Given the description of an element on the screen output the (x, y) to click on. 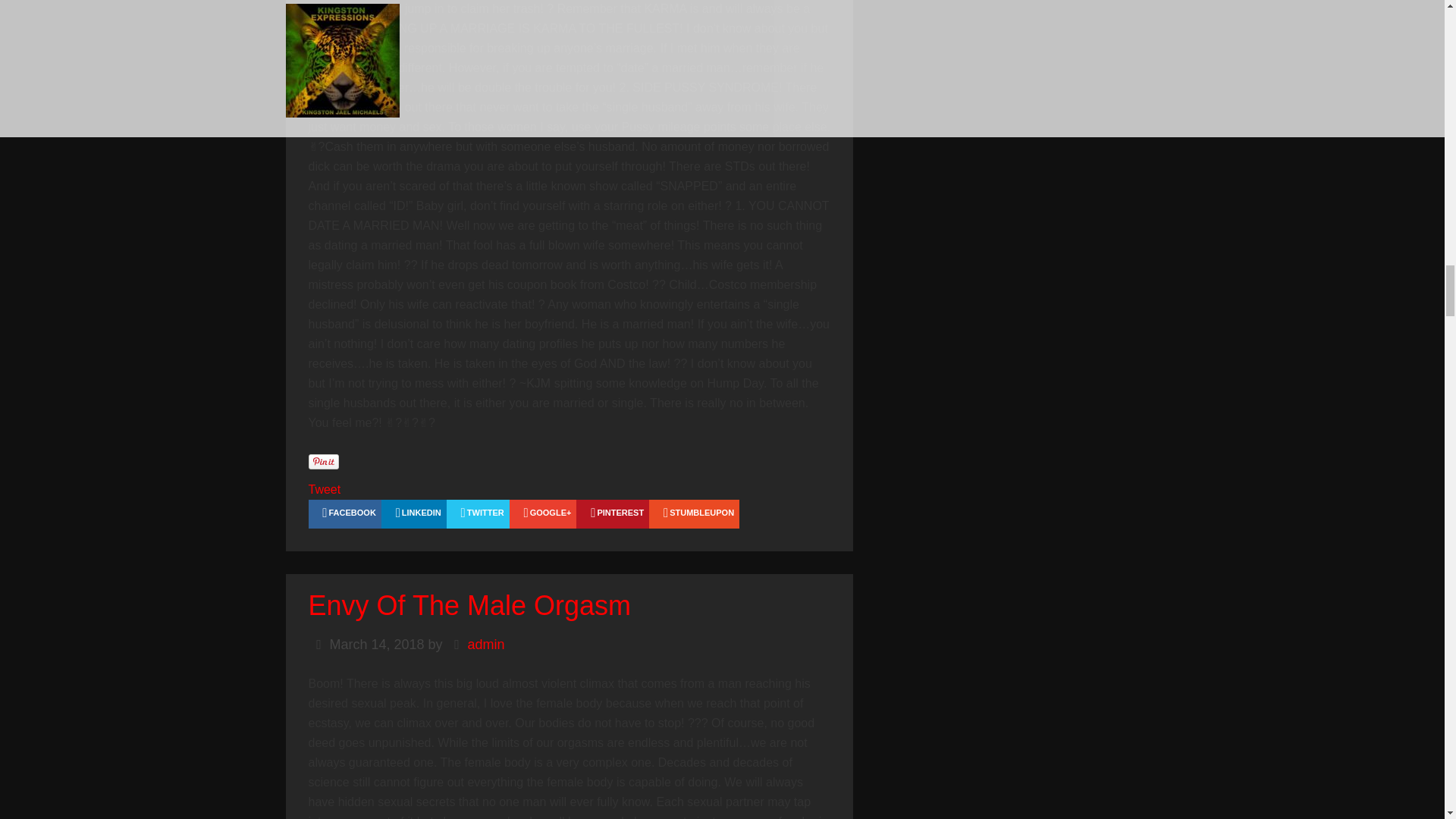
admin (486, 644)
FACEBOOK (343, 513)
Tweet (323, 489)
Pin It (322, 461)
STUMBLEUPON (694, 513)
Envy Of The Male Orgasm (468, 604)
LINKEDIN (413, 513)
TWITTER (477, 513)
PINTEREST (612, 513)
